Given the description of an element on the screen output the (x, y) to click on. 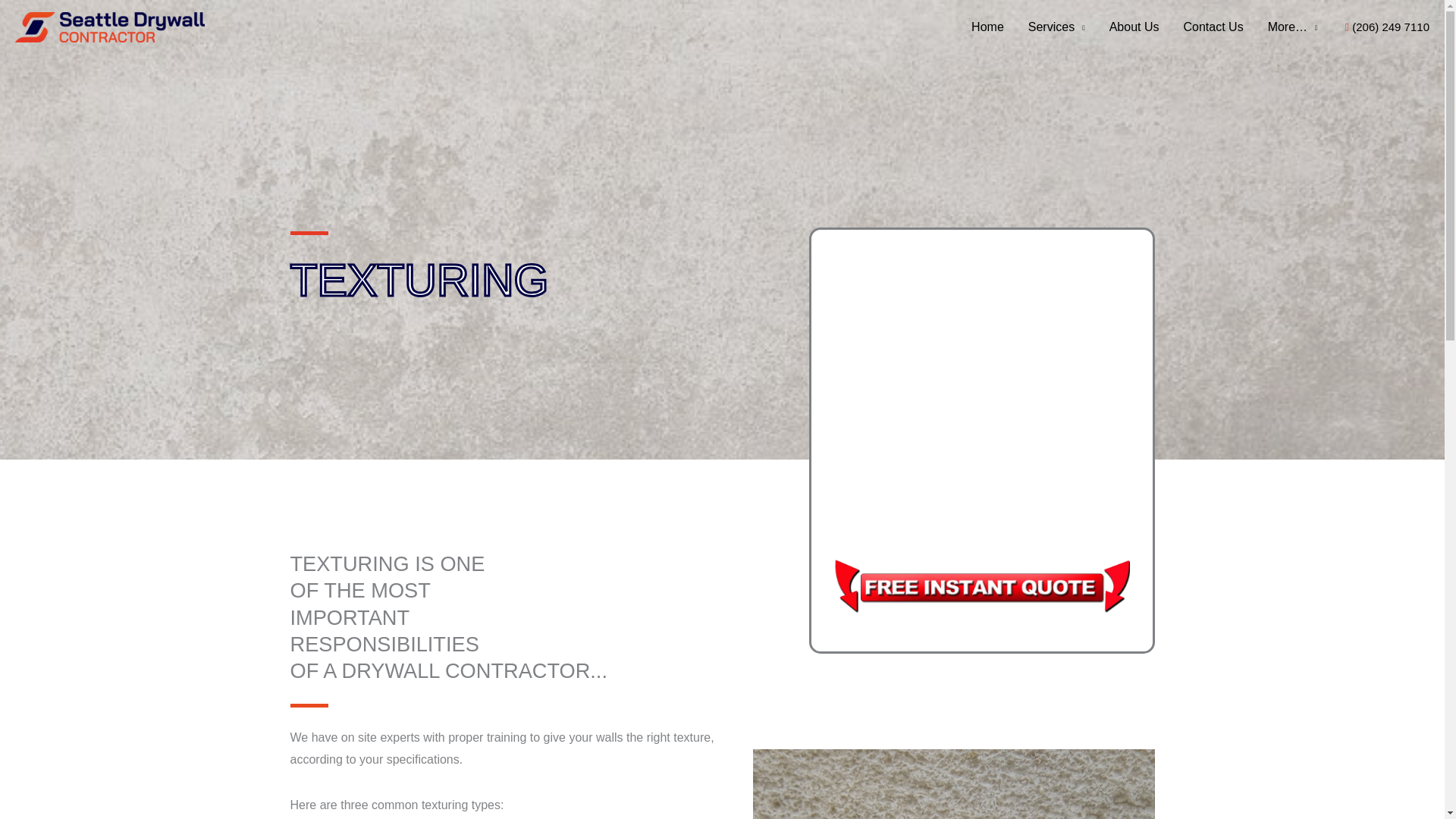
Contact Us (1212, 27)
About Us (1134, 27)
Home (987, 27)
Services (1056, 27)
